Given the description of an element on the screen output the (x, y) to click on. 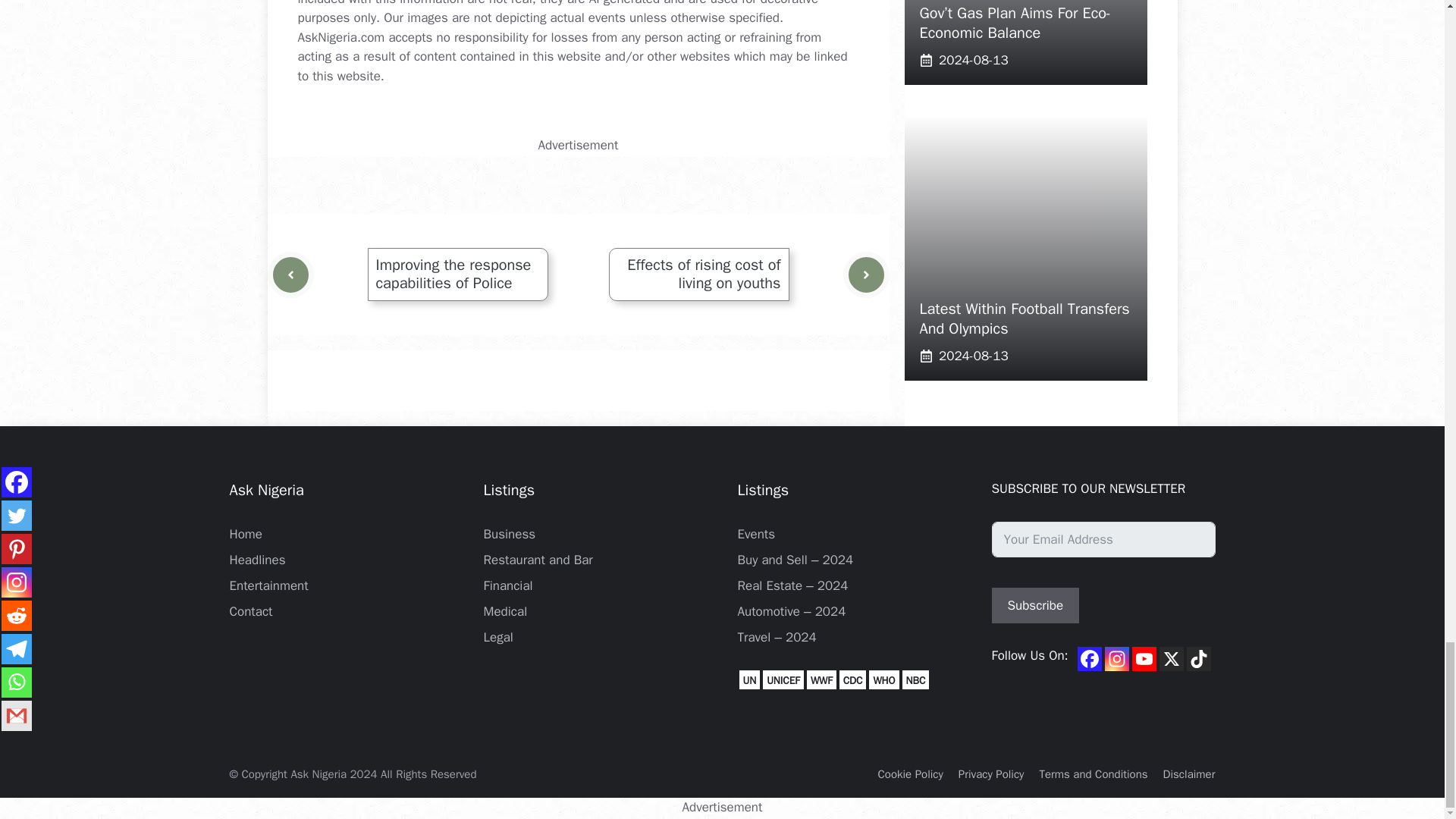
Facebook (1089, 658)
Youtube channel (1144, 658)
Instagram (1117, 658)
